Given the description of an element on the screen output the (x, y) to click on. 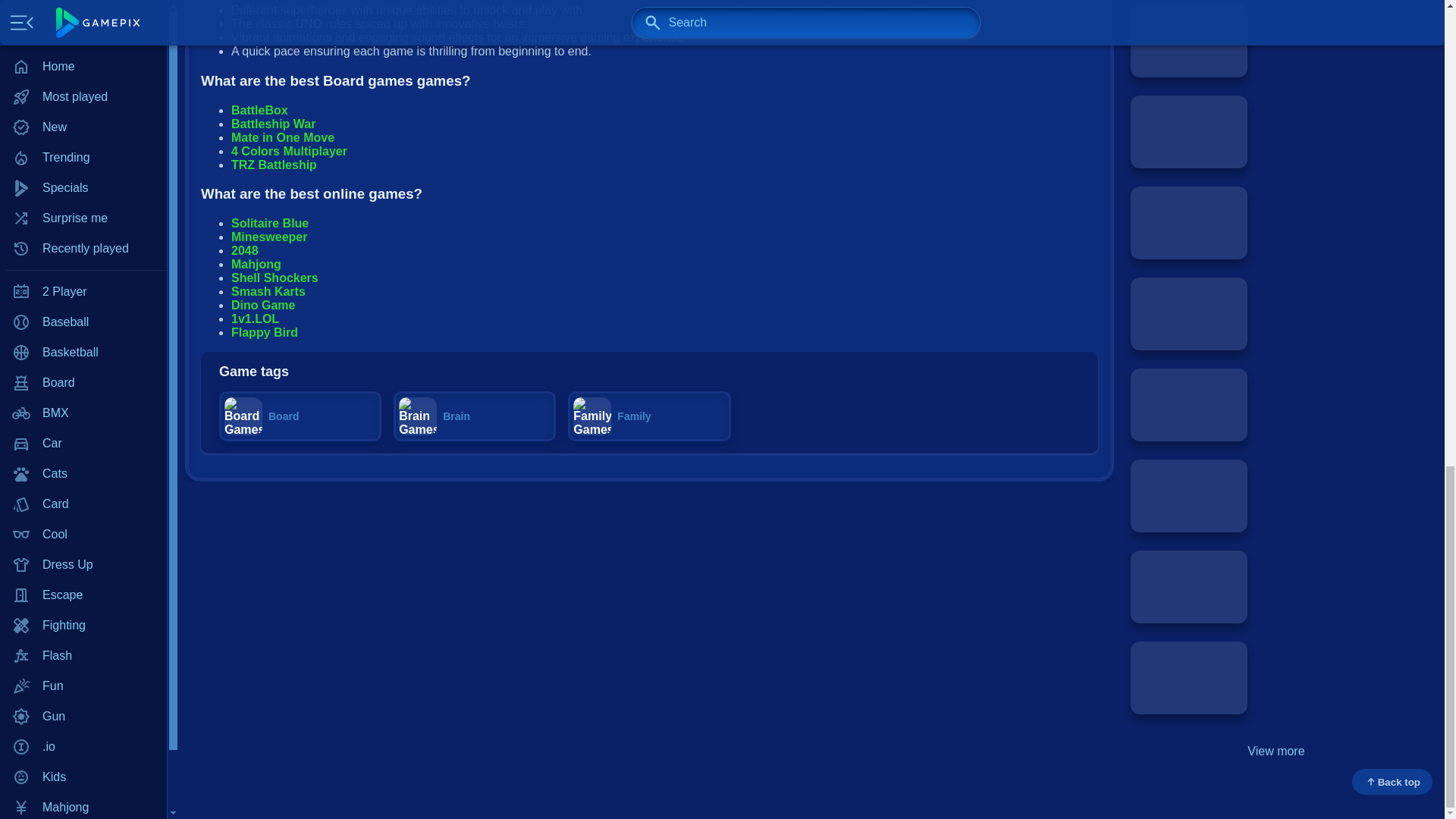
Snake (83, 2)
War (83, 49)
Soccer (83, 19)
Word (83, 79)
Zombie (83, 110)
